Given the description of an element on the screen output the (x, y) to click on. 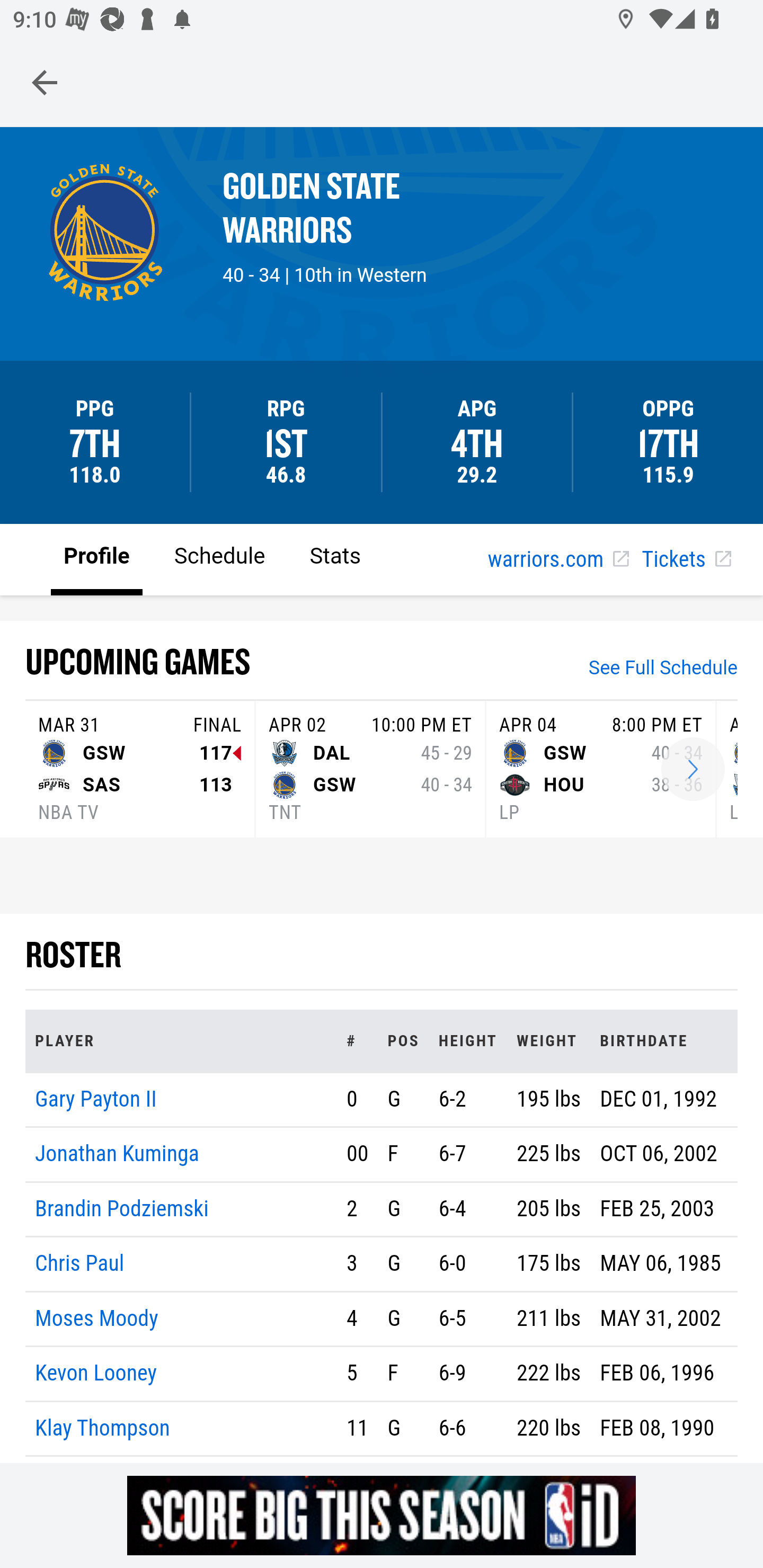
Navigate up (44, 82)
Profile (97, 558)
Schedule (219, 558)
Stats (335, 558)
warriors.com (557, 560)
Tickets (685, 560)
See Full Schedule (662, 669)
Match-up Scores (692, 769)
Gary Payton II (96, 1098)
Jonathan Kuminga (117, 1154)
Brandin Podziemski (122, 1207)
Chris Paul (80, 1264)
Moses Moody (96, 1317)
Kevon Looney (96, 1374)
Klay Thompson (102, 1427)
g5nqqygr7owph (381, 1515)
